Given the description of an element on the screen output the (x, y) to click on. 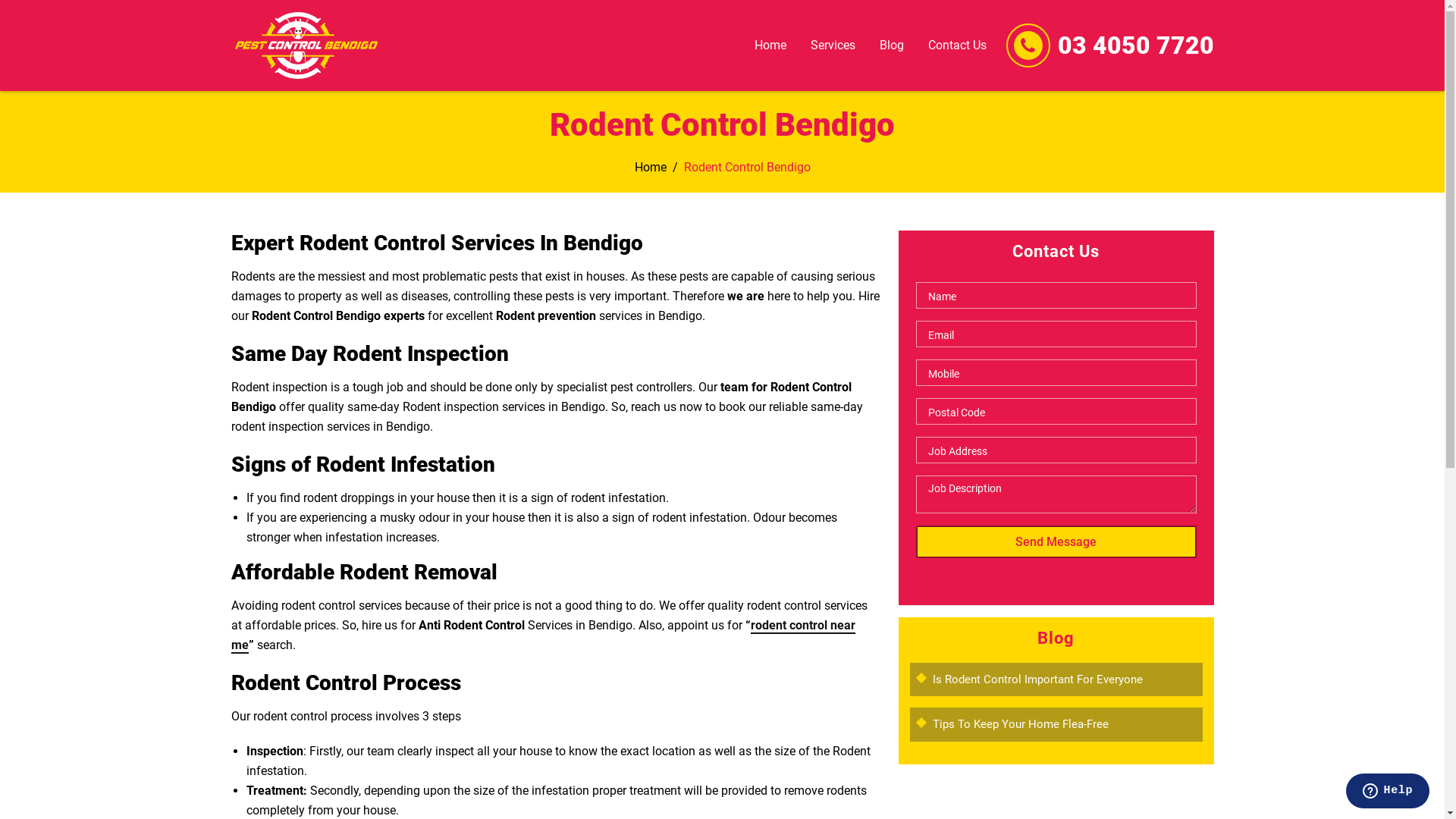
Opens a widget where you can chat to one of our agents Element type: hover (1387, 792)
Home Element type: text (770, 45)
Is Rodent Control Important For Everyone Element type: text (1037, 679)
Services Element type: text (832, 45)
rodent control near me Element type: text (542, 635)
Contact Us Element type: text (956, 45)
03 4050 7720 Element type: text (1135, 45)
Tips To Keep Your Home Flea-Free Element type: text (1020, 724)
Send Message Element type: text (1056, 541)
Blog Element type: text (890, 45)
Home Element type: text (649, 167)
